Given the description of an element on the screen output the (x, y) to click on. 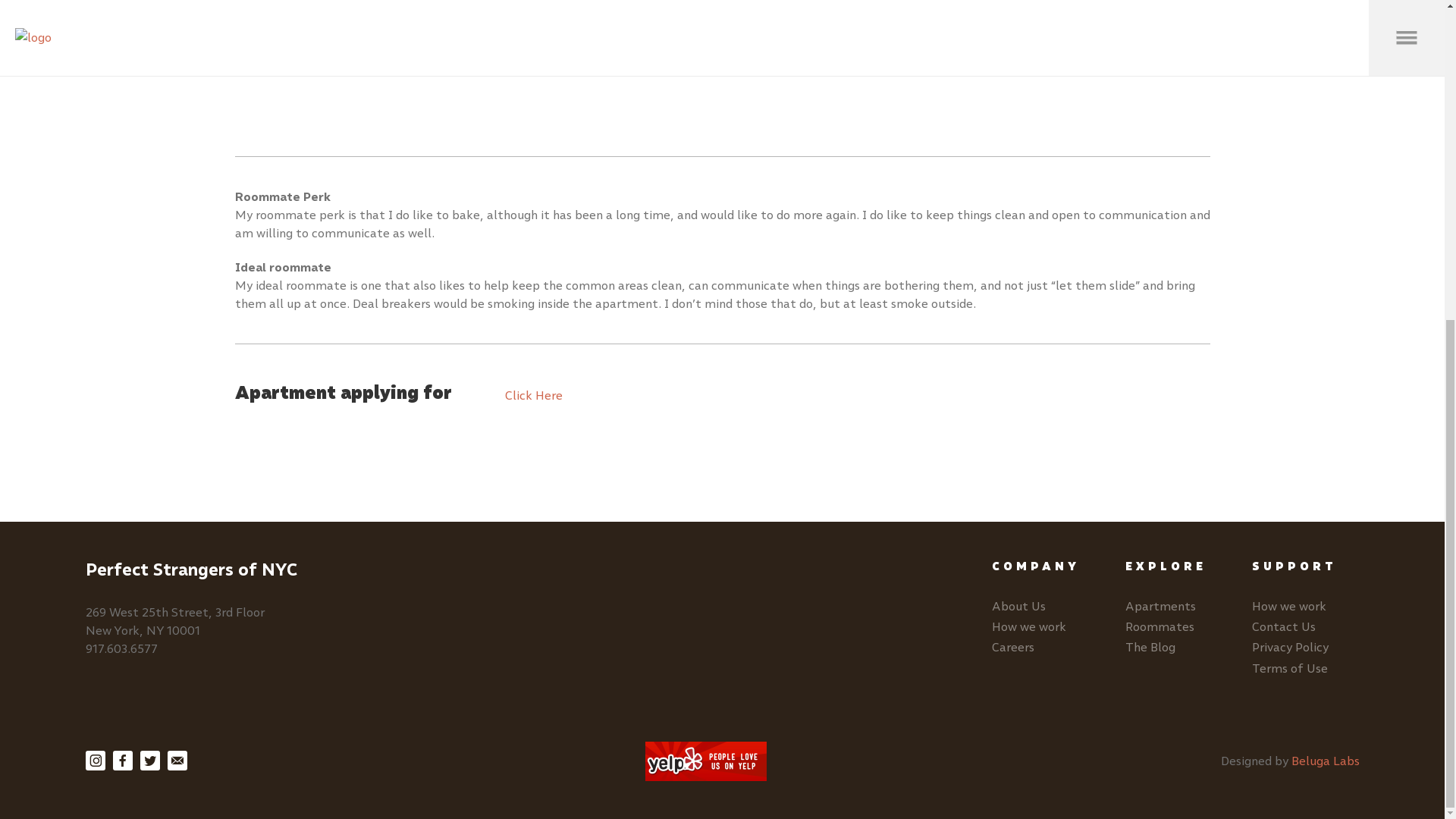
About Us (1018, 605)
Beluga Labs (1324, 760)
917.603.6577 (120, 648)
How we work (1287, 605)
Web Design Company NY (1324, 760)
Apartments (1160, 605)
Click Here (533, 395)
Privacy Policy (1288, 646)
Terms of Use (1288, 667)
Roommates (1159, 626)
Careers (1012, 646)
Contact Us (1282, 626)
How we work (1028, 626)
The Blog (1149, 646)
